Given the description of an element on the screen output the (x, y) to click on. 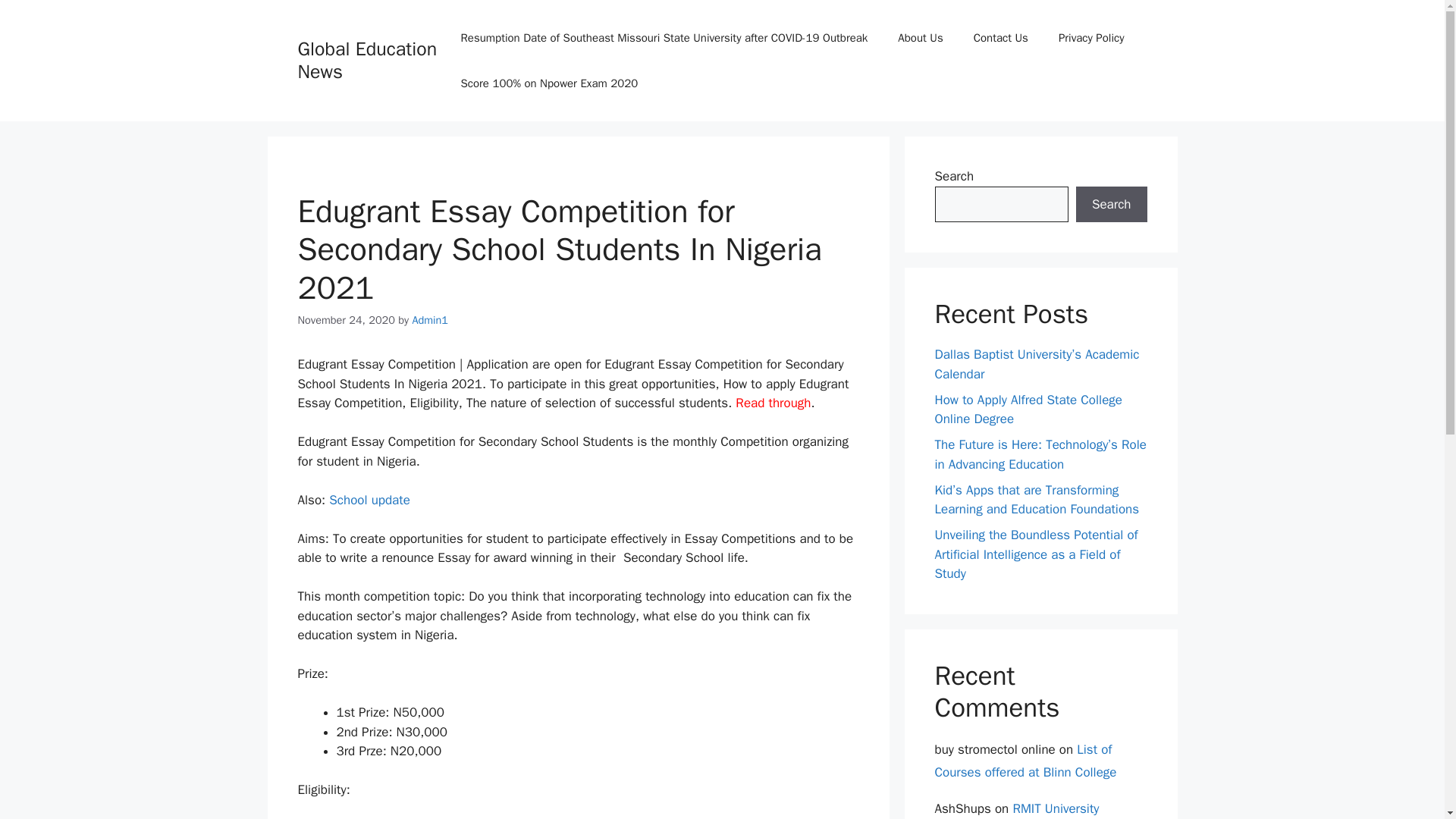
Admin1 (430, 319)
School update (369, 499)
Read through (772, 402)
Search (1111, 204)
About Us (920, 37)
List of Courses offered at Blinn College (1025, 761)
Privacy Policy (1091, 37)
Global Education News (366, 59)
Contact Us (1000, 37)
How to Apply Alfred State College Online Degree (1028, 408)
View all posts by Admin1 (430, 319)
